Given the description of an element on the screen output the (x, y) to click on. 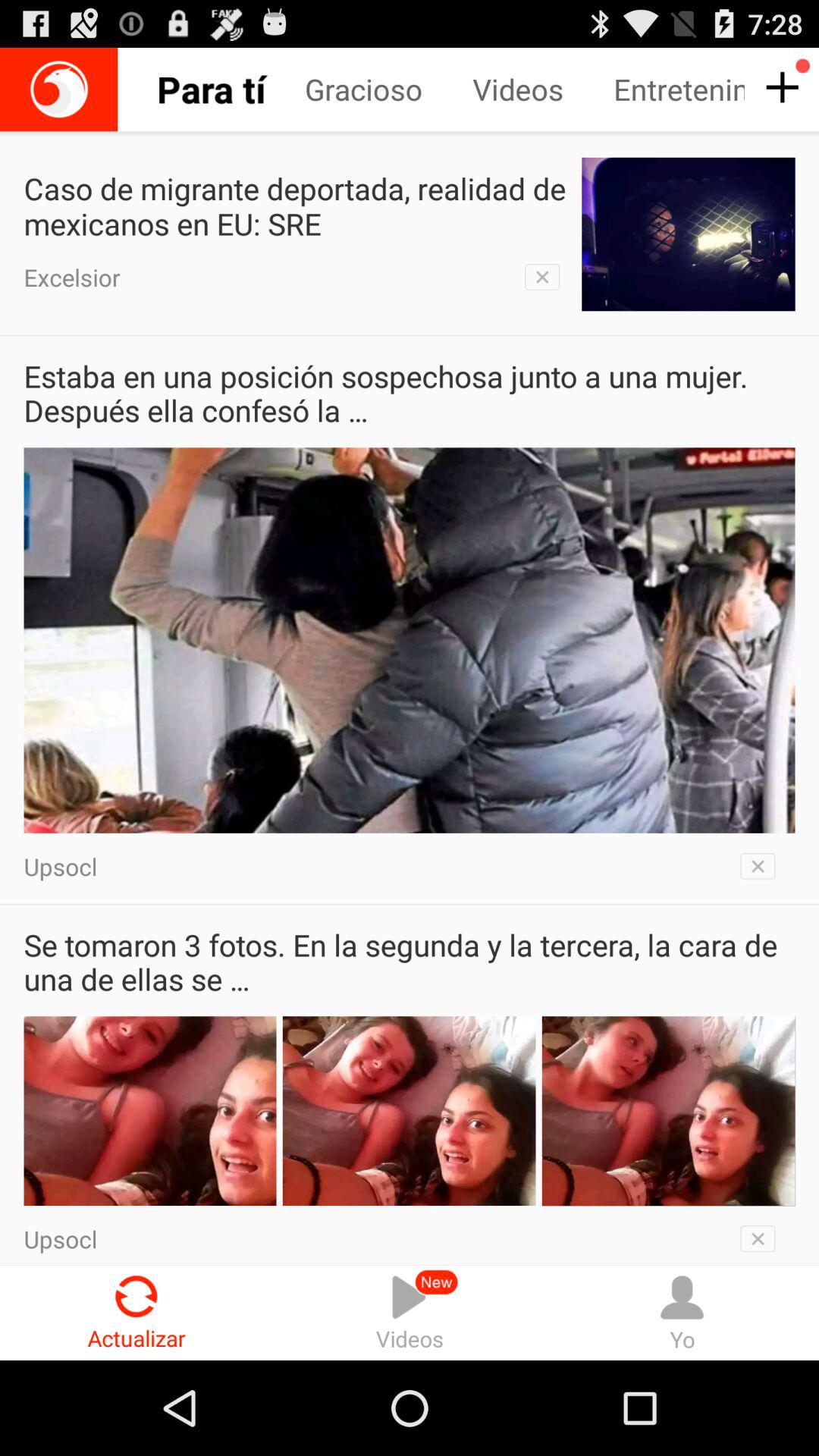
remove from view (762, 1234)
